Given the description of an element on the screen output the (x, y) to click on. 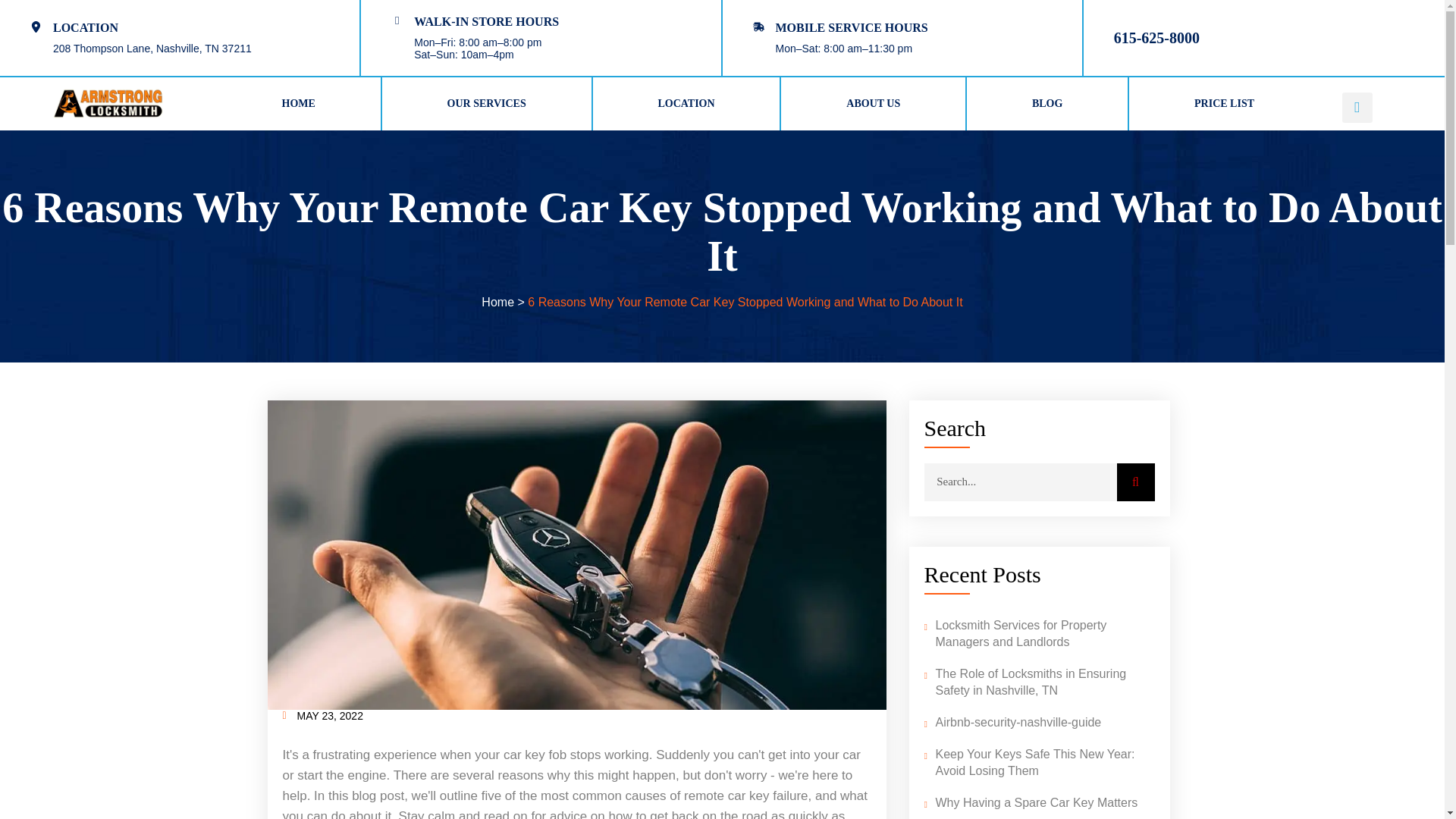
PRICE LIST (1224, 103)
Search (1019, 482)
Search (1135, 482)
BLOG (1046, 103)
ABOUT US (872, 103)
HOME (298, 103)
OUR SERVICES (486, 103)
LOCATION (686, 103)
